Given the description of an element on the screen output the (x, y) to click on. 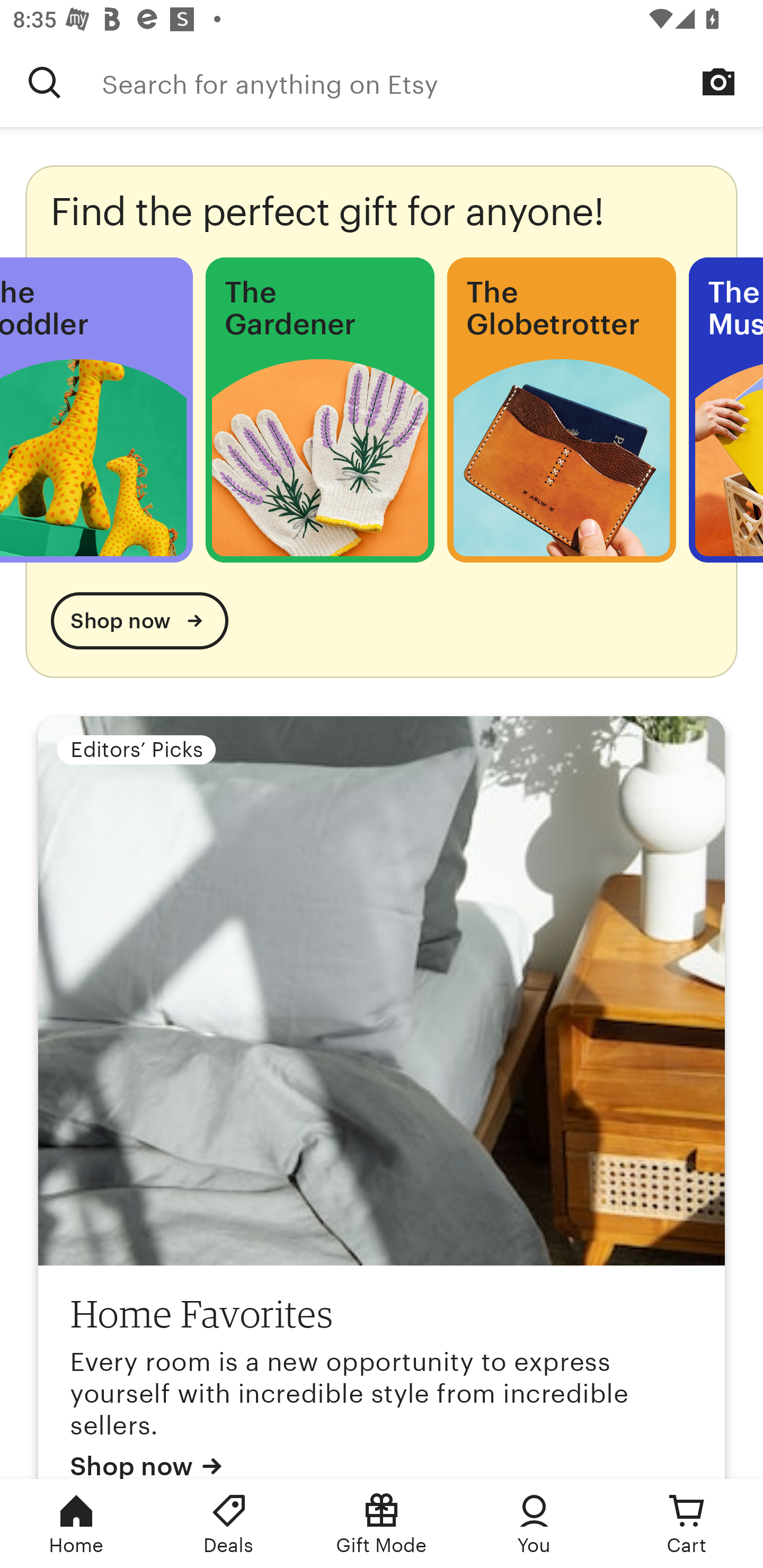
Search for anything on Etsy (44, 82)
Search by image (718, 81)
Search for anything on Etsy (432, 82)
Find the perfect gift for anyone! Shop now (381, 420)
The Toddler (96, 409)
The Gardener (319, 409)
The Globetrotter (561, 409)
Shop now (139, 620)
Deals (228, 1523)
Gift Mode (381, 1523)
You (533, 1523)
Cart (686, 1523)
